Given the description of an element on the screen output the (x, y) to click on. 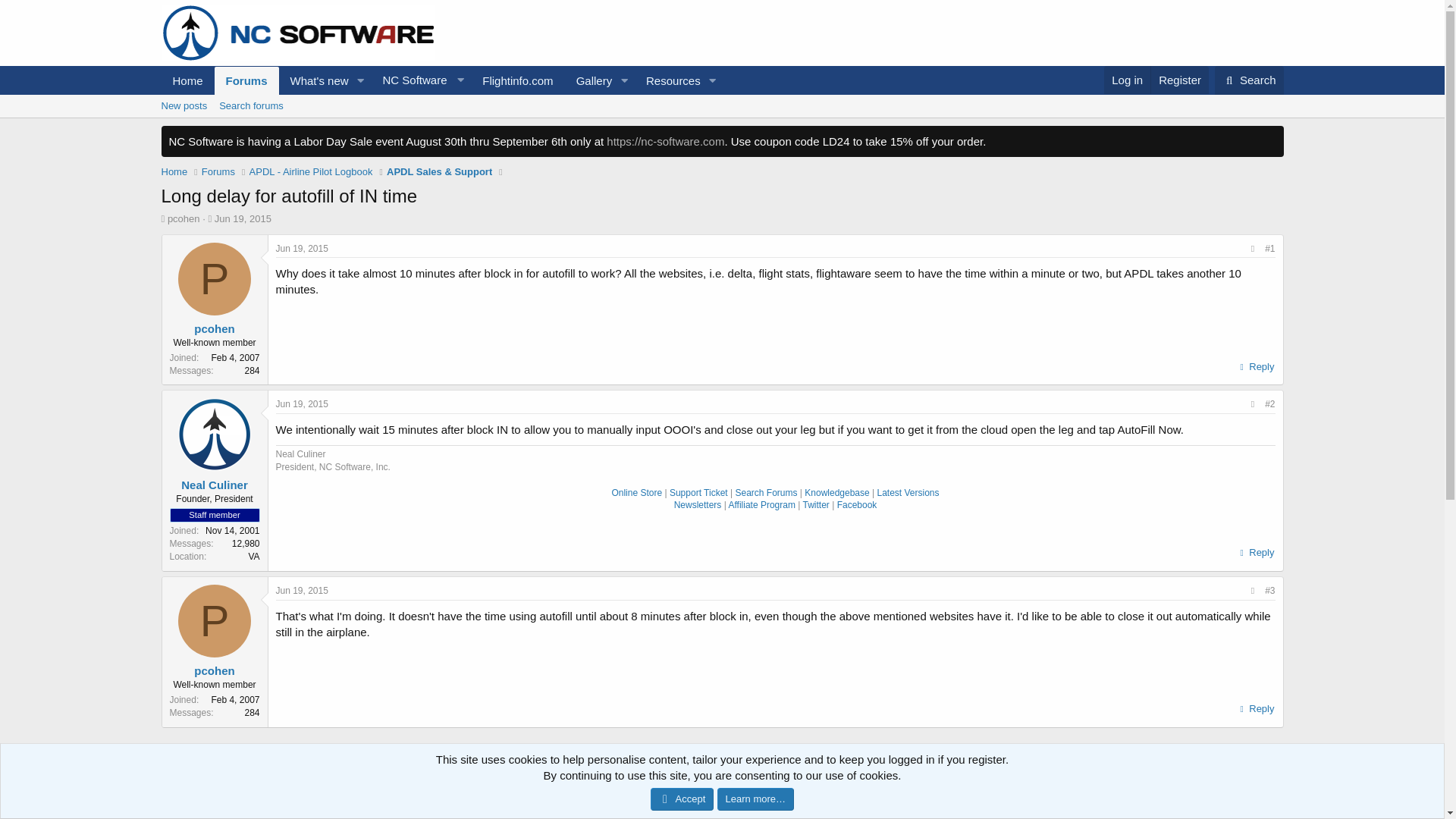
New posts (183, 106)
Jun 19, 2015 at 9:21 AM (302, 590)
Jun 19, 2015 at 8:34 AM (302, 248)
Flightinfo.com (517, 80)
Gallery (588, 80)
Register (721, 123)
Jun 19, 2015 at 8:34 AM (1179, 80)
